Given the description of an element on the screen output the (x, y) to click on. 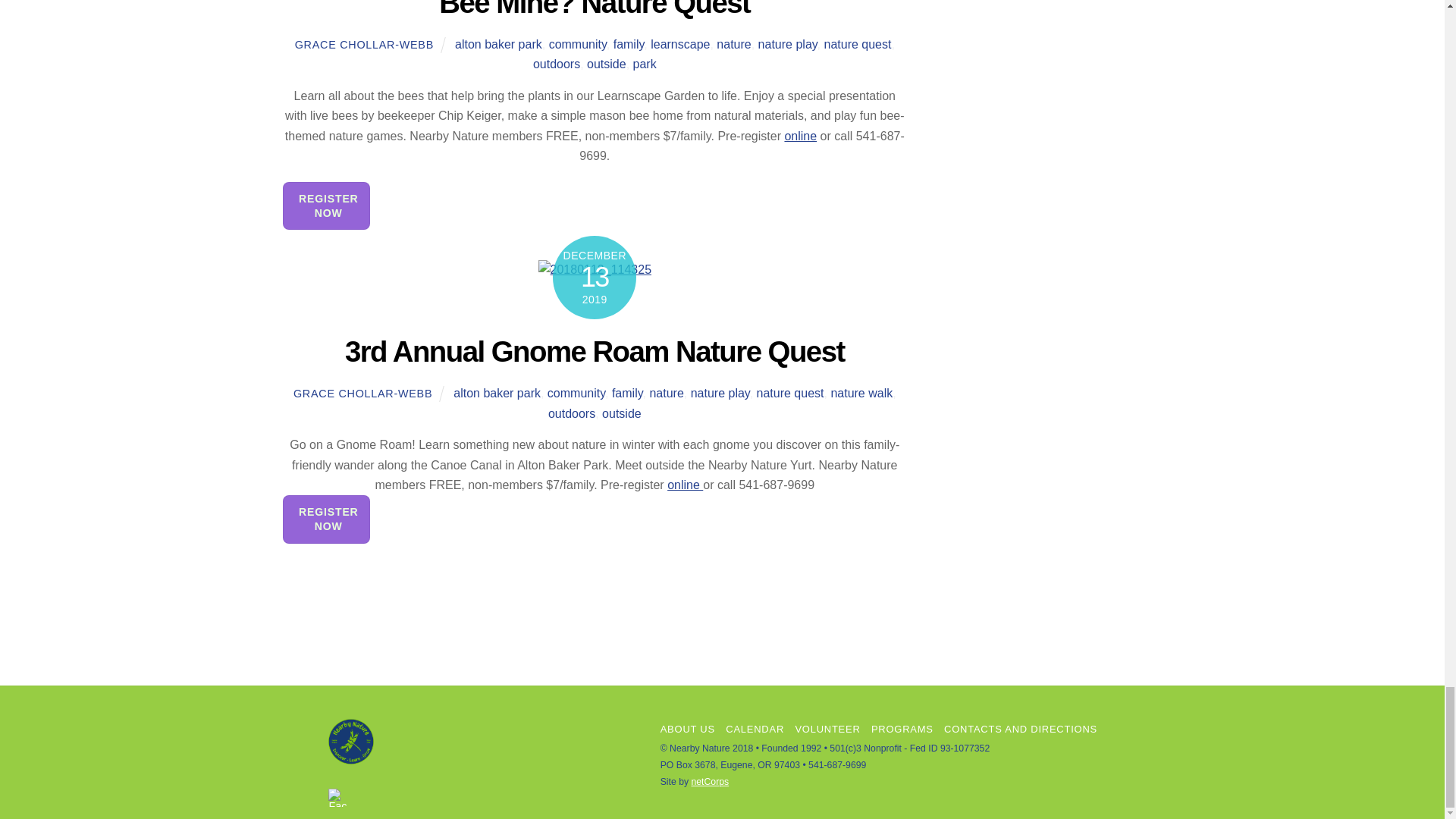
Nearby Nature (351, 759)
